Given the description of an element on the screen output the (x, y) to click on. 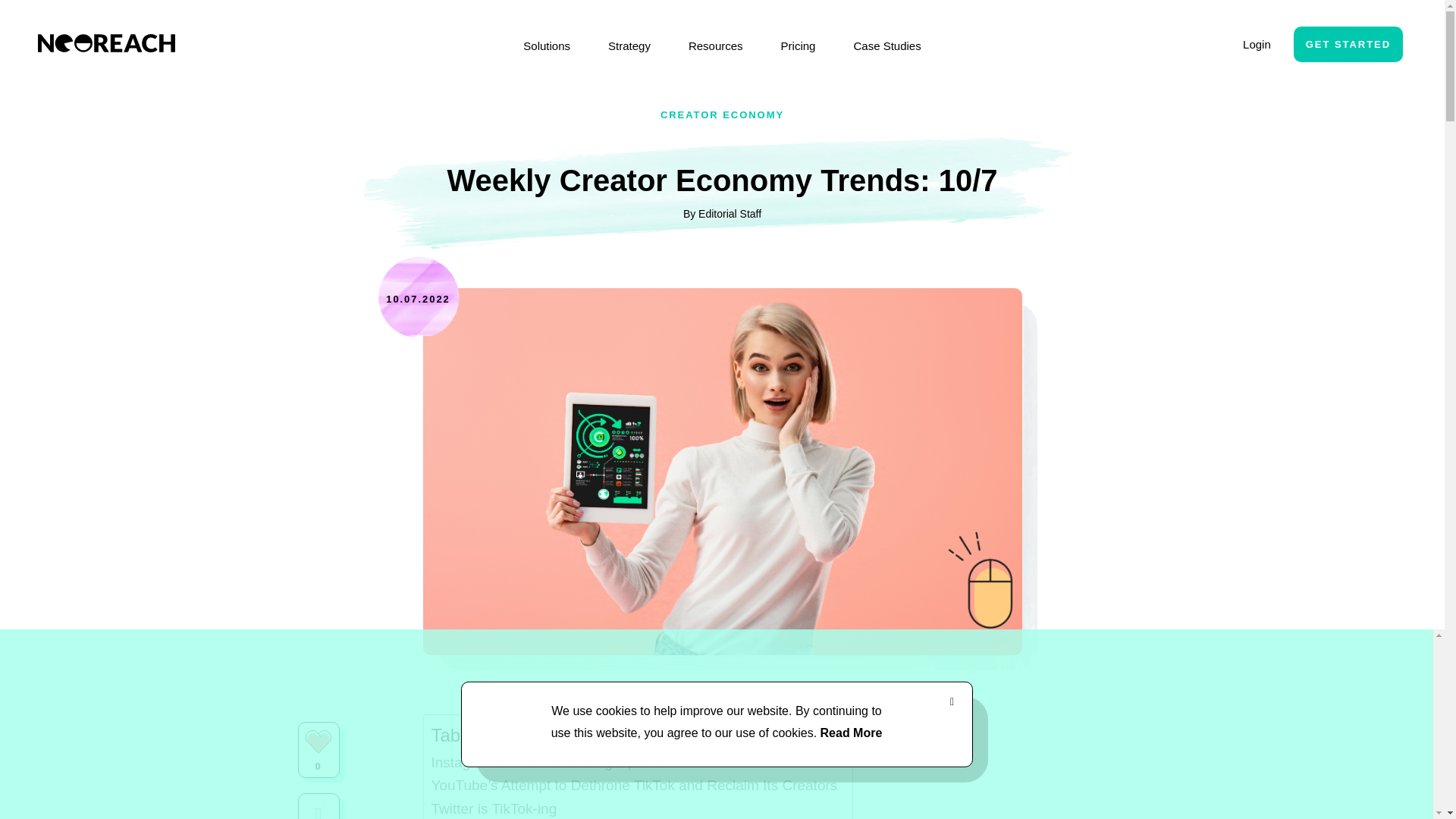
GET STARTED (1348, 43)
Strategy (629, 46)
Case Studies (886, 46)
Pricing (797, 46)
Resources (715, 46)
Solutions (546, 46)
Login (1257, 44)
